Given the description of an element on the screen output the (x, y) to click on. 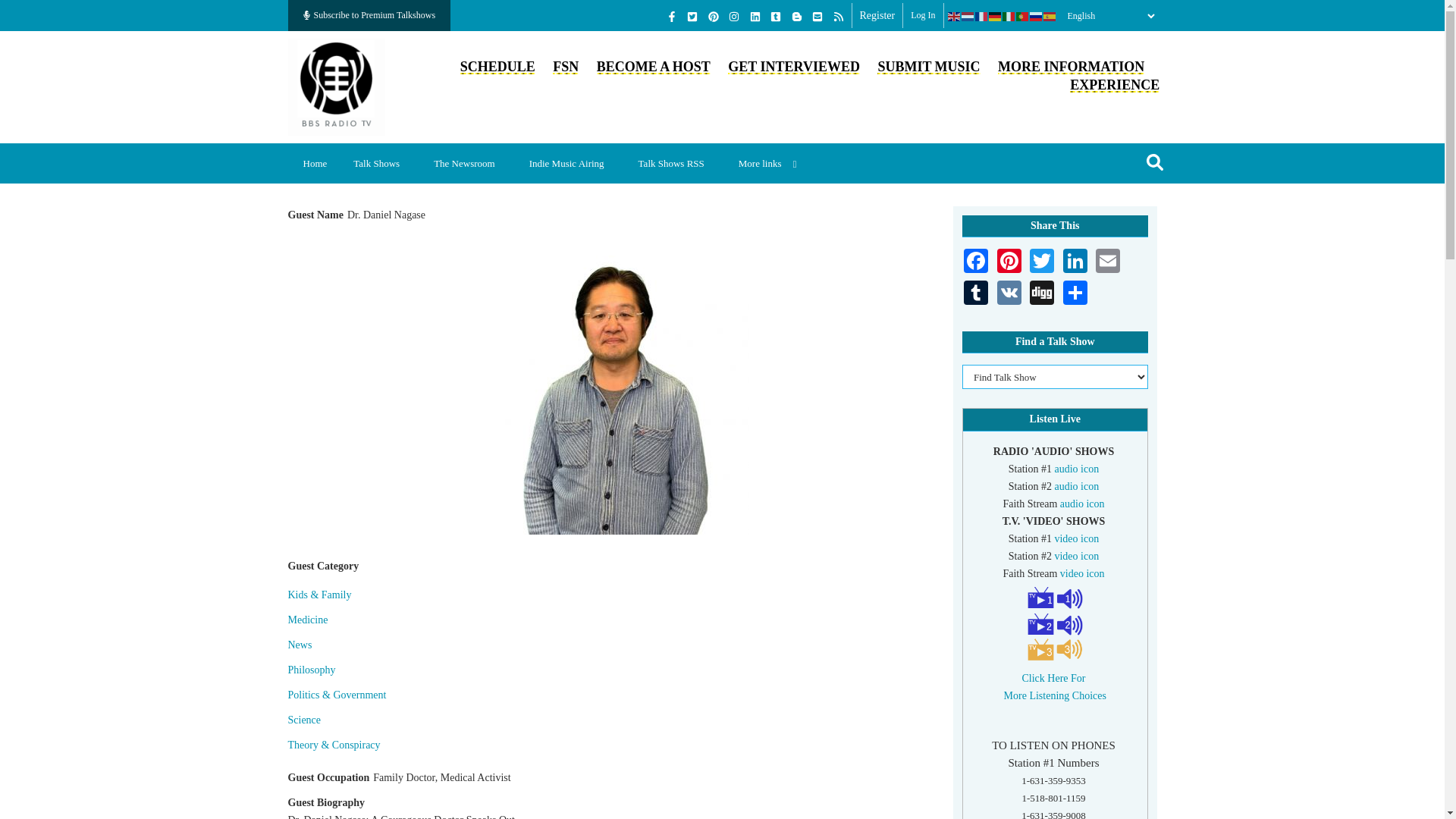
FSN (565, 66)
Home (336, 85)
BECOME A HOST (653, 66)
Subscribe to Premium Talkshows (369, 15)
Log In (922, 14)
SCHEDULE (497, 66)
Dr. Daniel Nagase (611, 382)
Register (877, 15)
Home (315, 163)
EXPERIENCE (1114, 84)
Deutsch (995, 15)
Faith Stream Network (565, 66)
SUBMIT MUSIC (928, 66)
Nederlands (967, 15)
English (953, 15)
